Given the description of an element on the screen output the (x, y) to click on. 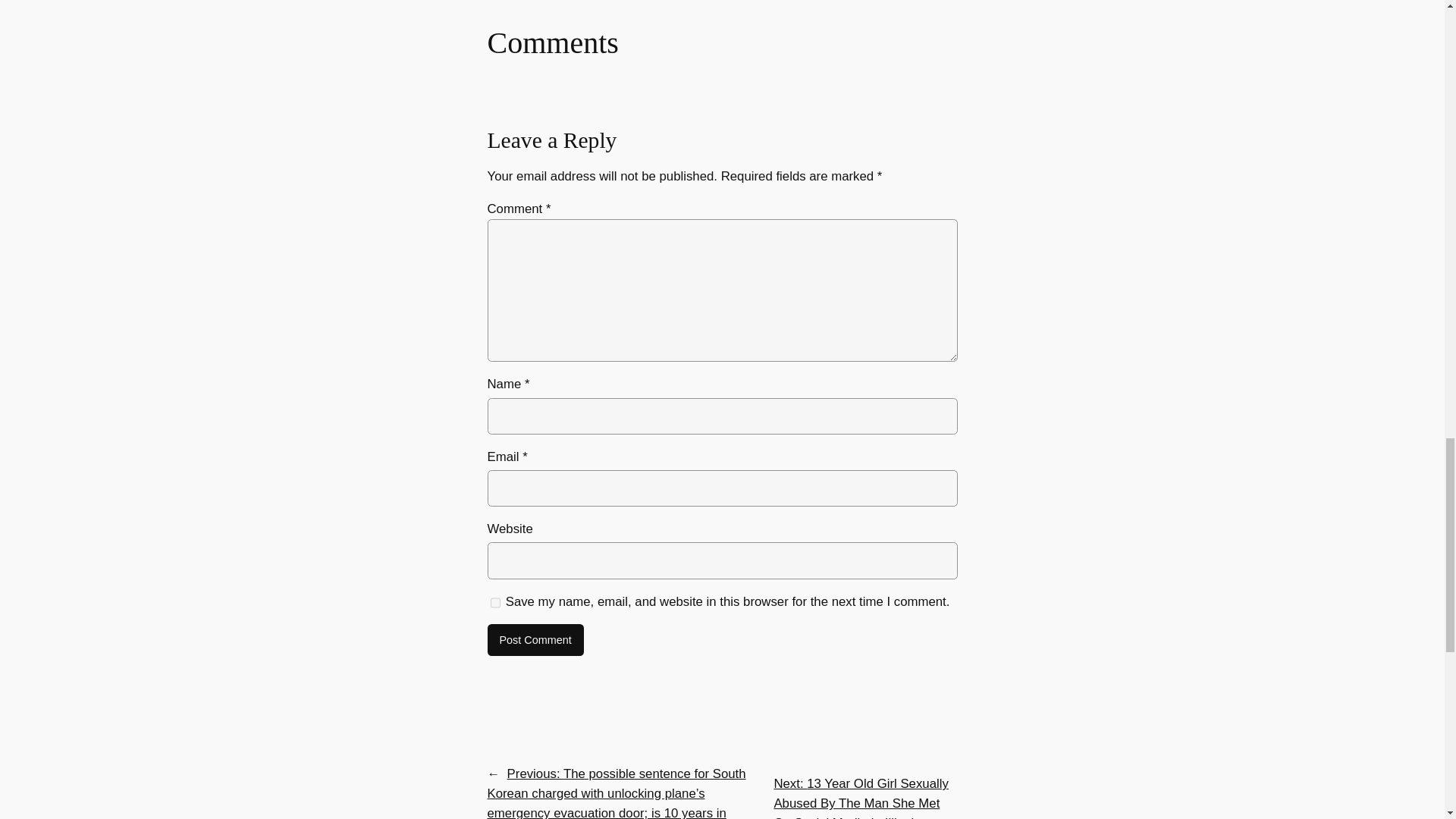
Post Comment (534, 640)
Post Comment (534, 640)
